Given the description of an element on the screen output the (x, y) to click on. 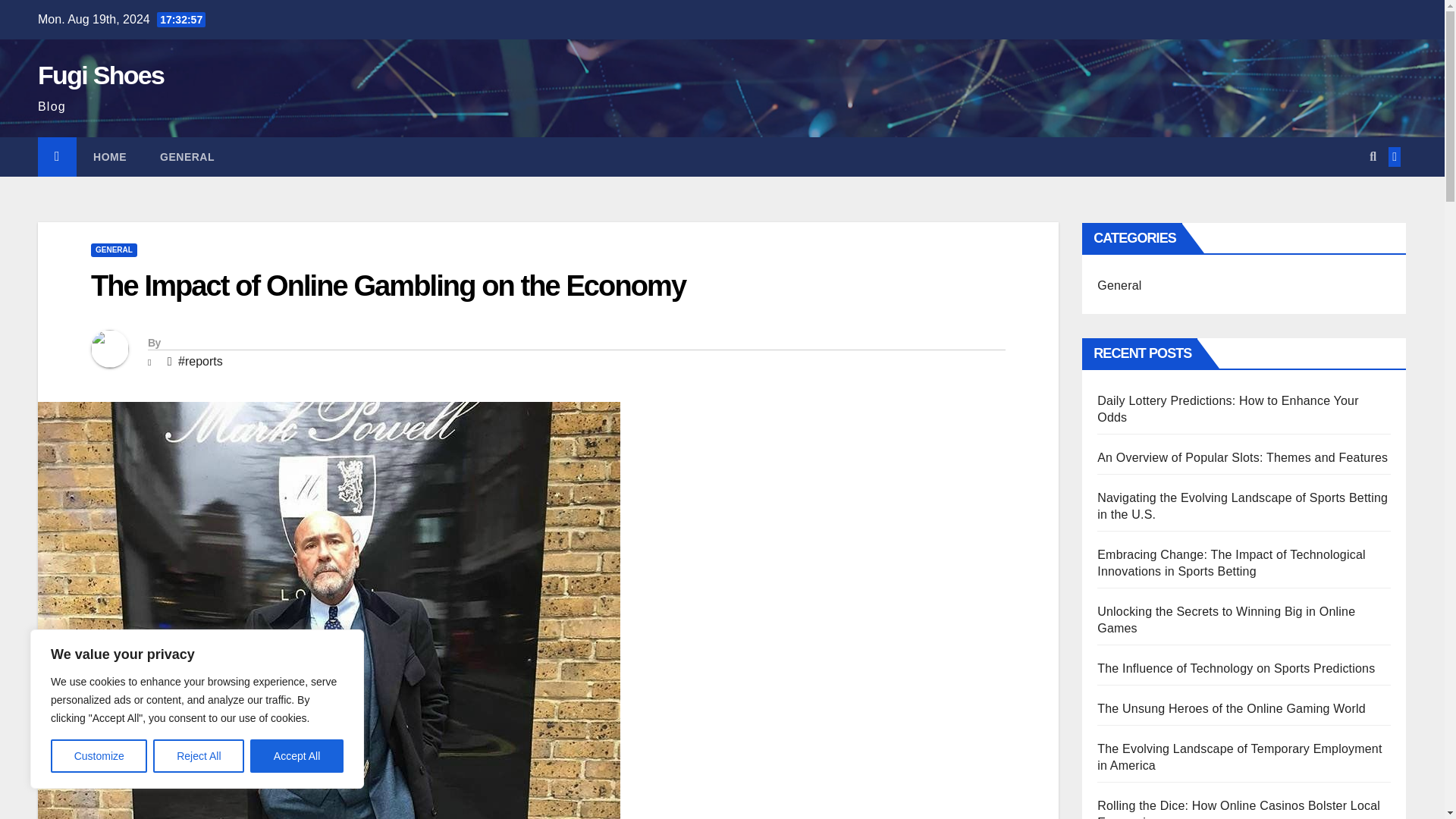
Accept All (296, 756)
Fugi Shoes (100, 74)
Customize (98, 756)
HOME (109, 156)
The Impact of Online Gambling on the Economy (387, 286)
Reject All (198, 756)
Permalink to: The Impact of Online Gambling on the Economy (387, 286)
General (186, 156)
GENERAL (113, 250)
Home (109, 156)
